Given the description of an element on the screen output the (x, y) to click on. 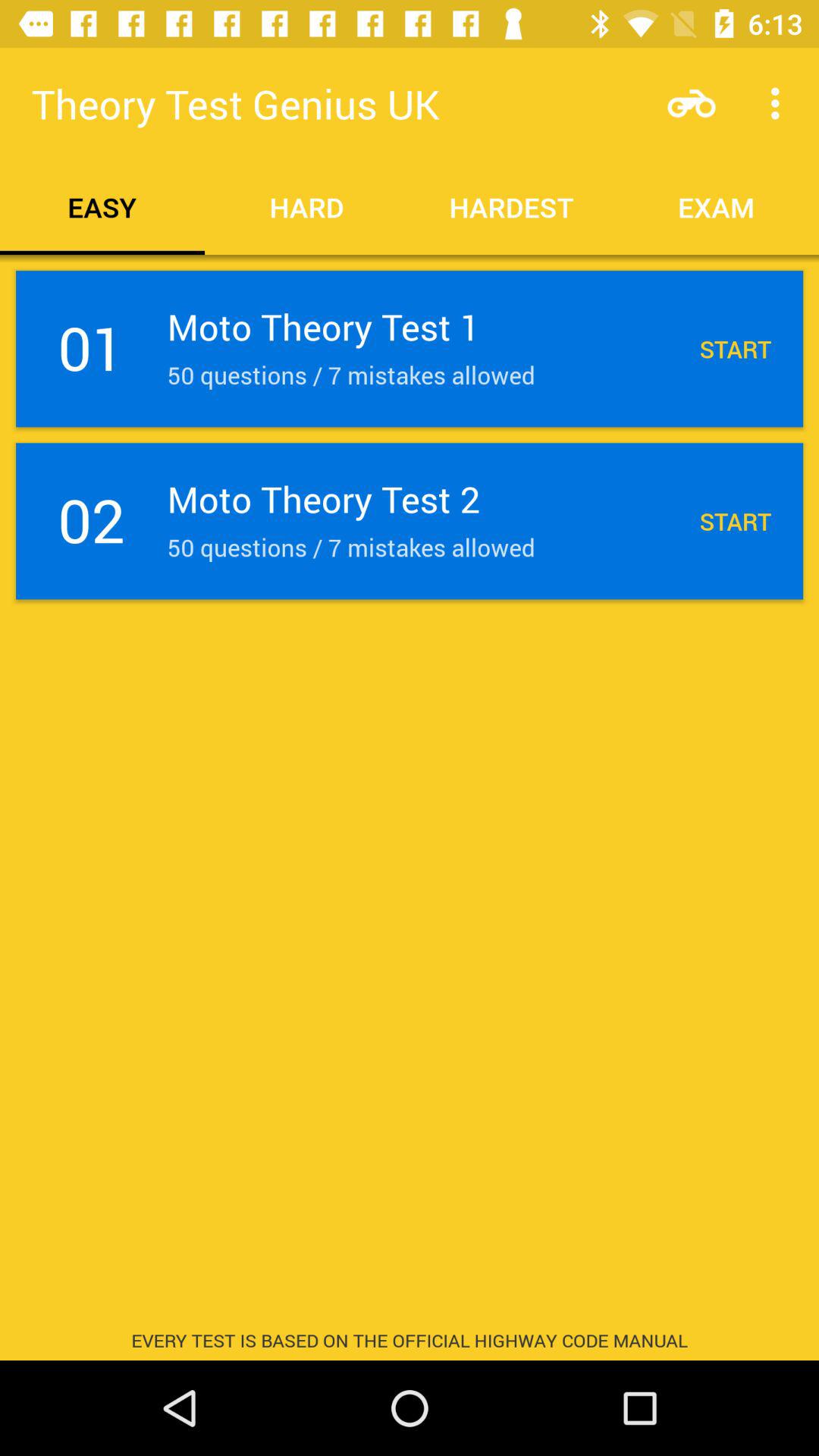
press the icon above exam icon (691, 103)
